Given the description of an element on the screen output the (x, y) to click on. 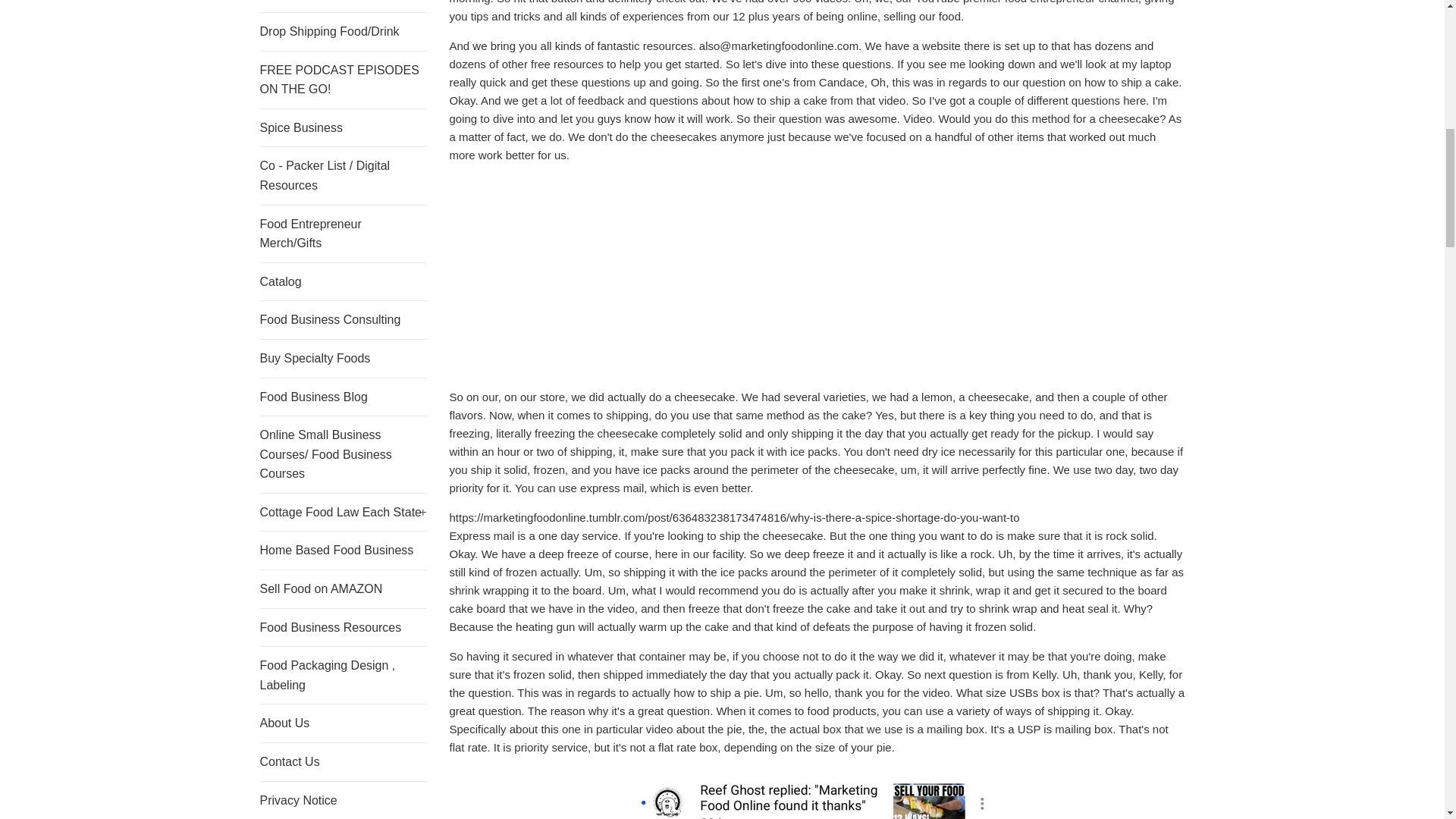
Home Based Food Business (342, 550)
Food Business Blog (342, 397)
Sell Food on AMAZON (342, 589)
Buy Specialty Foods (342, 358)
Food Business Resources (342, 628)
food (1015, 2)
Spice Business (342, 127)
Contact Us (342, 761)
About Us (342, 723)
